Given the description of an element on the screen output the (x, y) to click on. 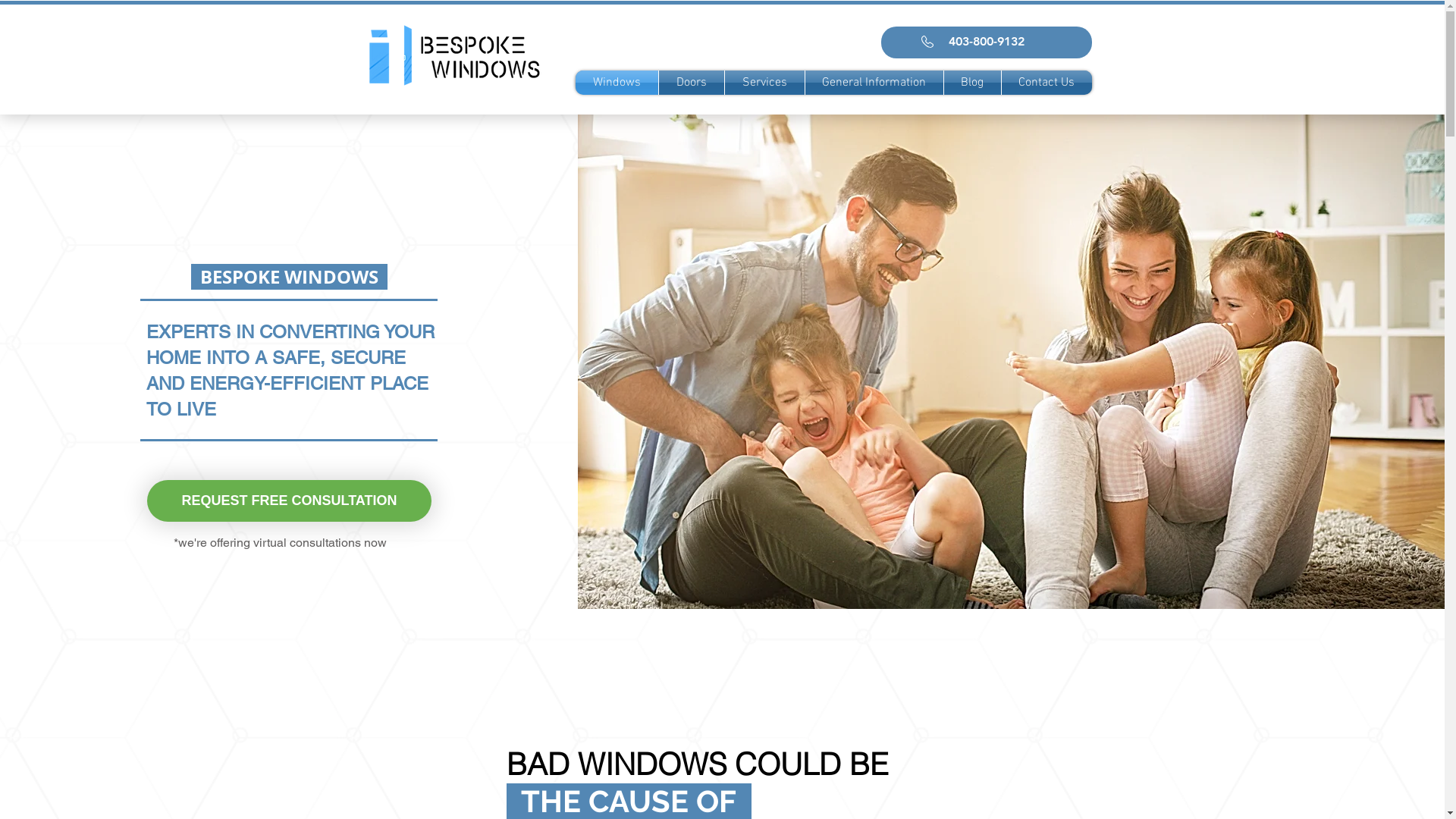
Embedded Content Element type: hover (461, 147)
Embedded Content Element type: hover (525, 99)
Doors Element type: text (690, 82)
Blog Element type: text (971, 82)
Embedded Content Element type: hover (696, 141)
Contact Us Element type: text (1046, 82)
Embedded Content Element type: hover (878, 137)
Windows Element type: text (615, 82)
403-800-9132 Element type: text (986, 42)
Embedded Content Element type: hover (641, 147)
REQUEST FREE CONSULTATION Element type: text (289, 500)
